Given the description of an element on the screen output the (x, y) to click on. 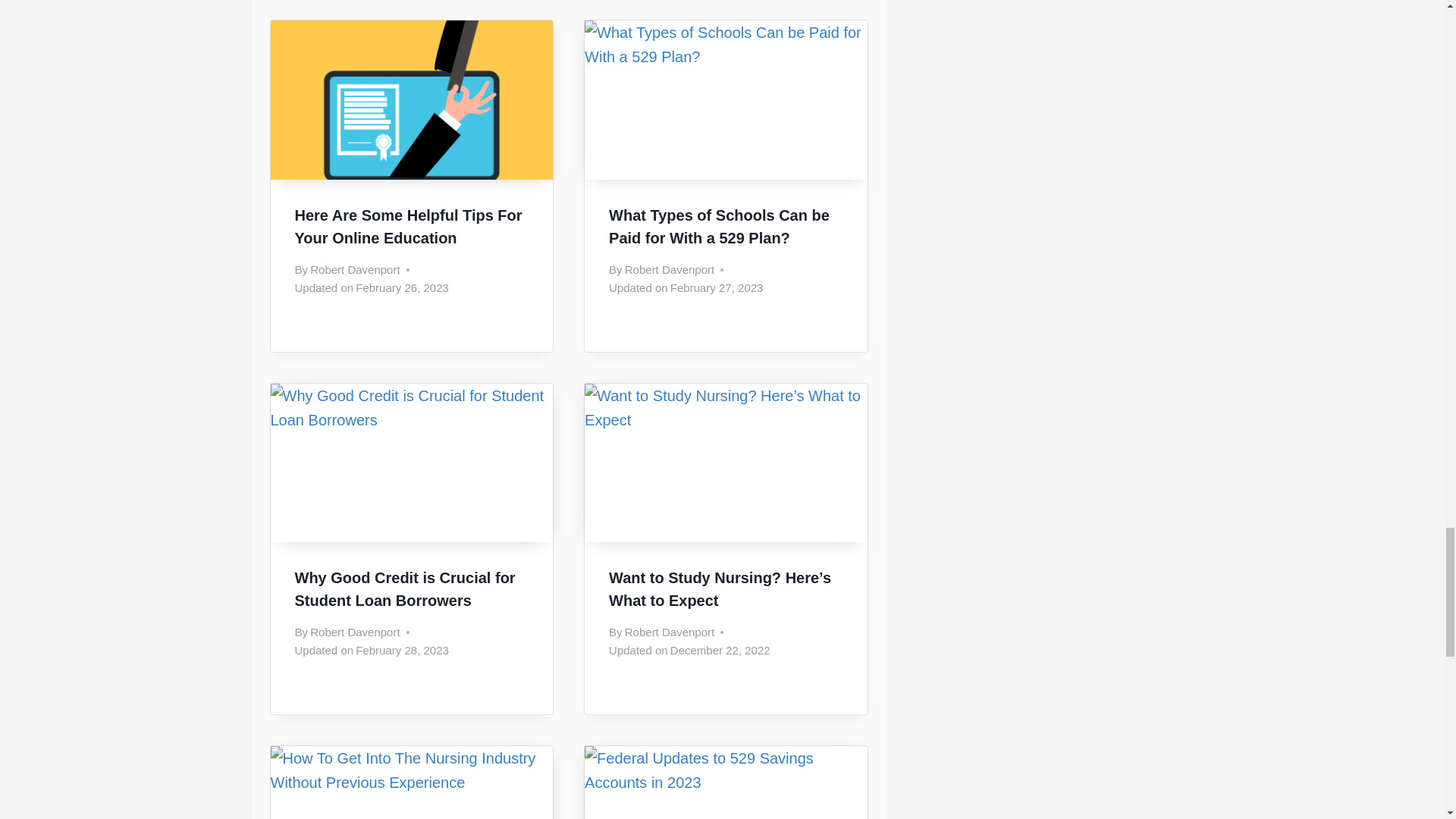
Robert Davenport (669, 269)
What Types of Schools Can be Paid for With a 529 Plan? (718, 226)
Here Are Some Helpful Tips For Your Online Education (407, 226)
Robert Davenport (354, 631)
Robert Davenport (354, 269)
Robert Davenport (669, 631)
Why Good Credit is Crucial for Student Loan Borrowers (404, 589)
